Given the description of an element on the screen output the (x, y) to click on. 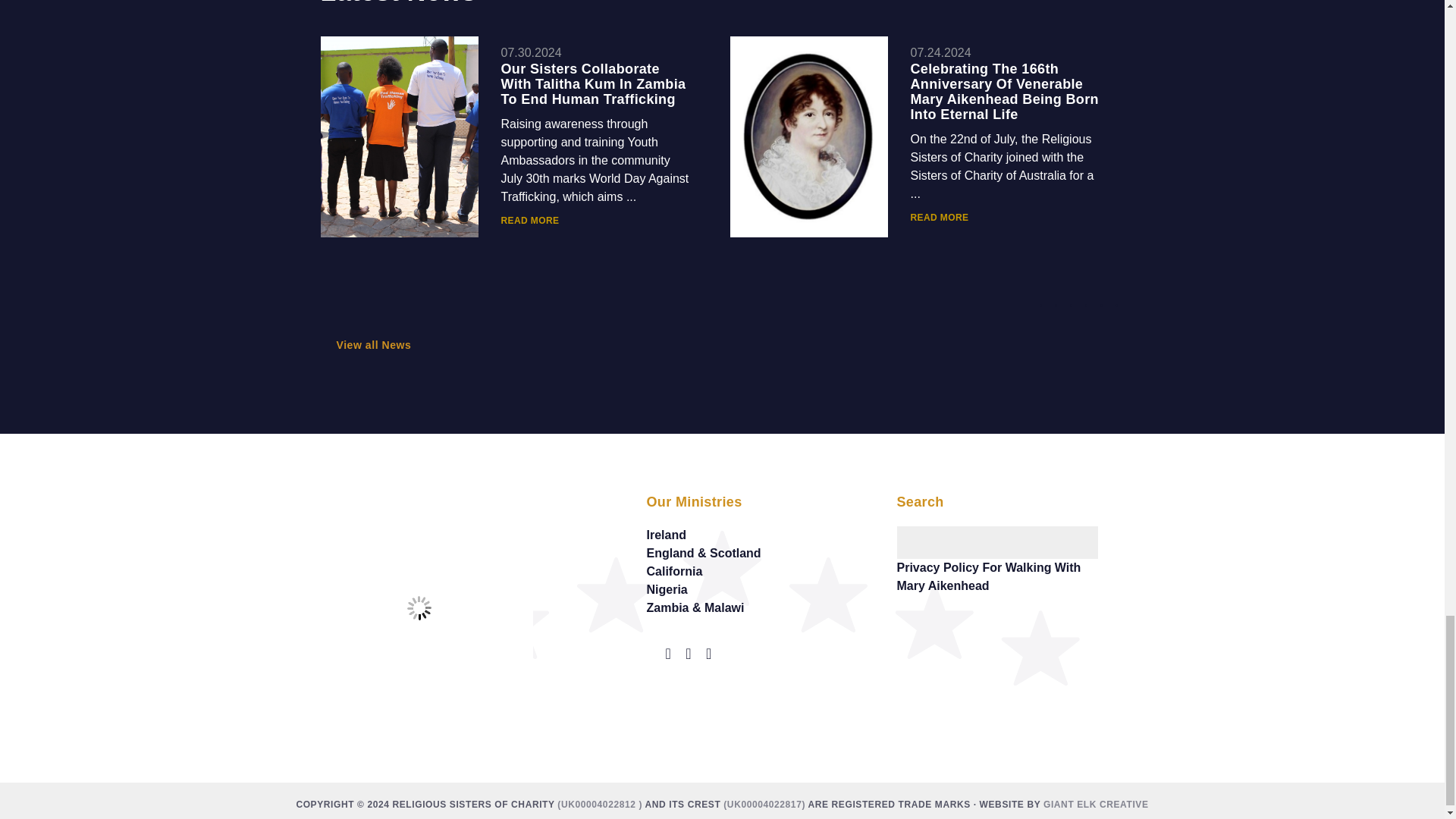
Search (1110, 532)
Search (1110, 532)
